Given the description of an element on the screen output the (x, y) to click on. 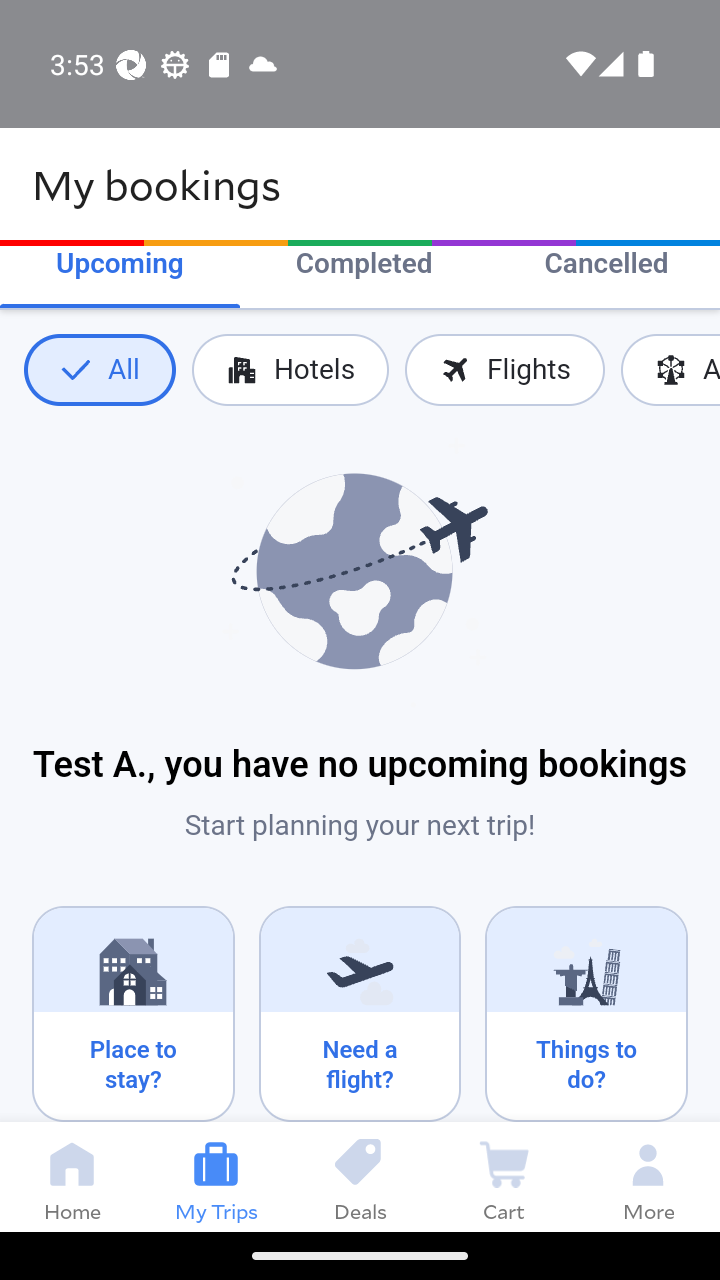
Upcoming (119, 266)
Completed (363, 266)
Cancelled (606, 266)
All (99, 369)
Hotels (290, 369)
Flights (504, 369)
Activities (669, 369)
Home (72, 1176)
My Trips (216, 1176)
Deals (360, 1176)
Cart (504, 1176)
More (648, 1176)
